Given the description of an element on the screen output the (x, y) to click on. 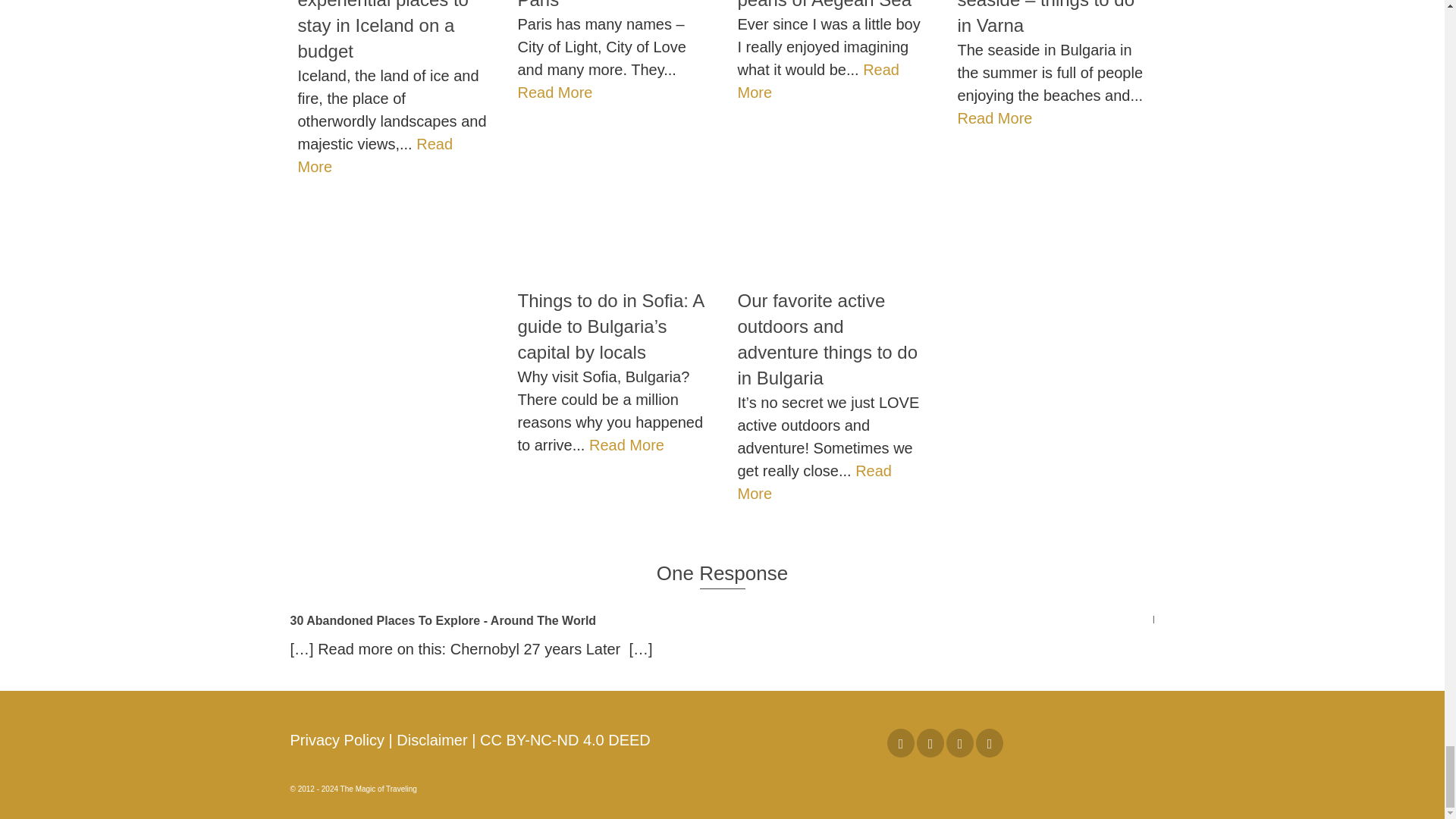
Facebook (900, 742)
YouTube (960, 742)
Instagram (930, 742)
RSS (989, 742)
